Given the description of an element on the screen output the (x, y) to click on. 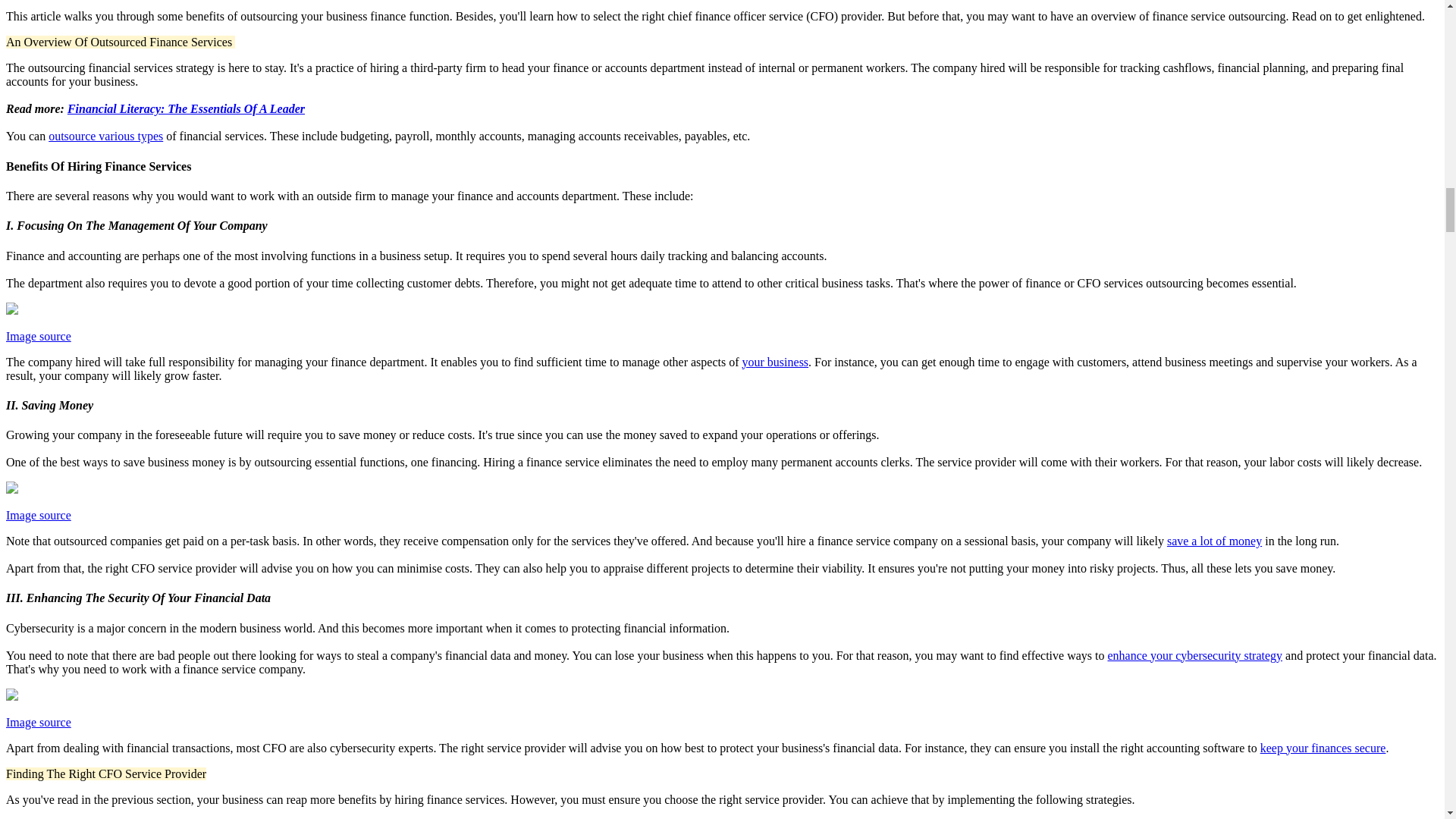
Image source (38, 514)
outsource various types (105, 135)
enhance your cybersecurity strategy (1194, 655)
your business (775, 361)
Image source (38, 336)
Financial Literacy: The Essentials Of A Leader (185, 108)
keep your finances secure (1323, 748)
Image source (38, 721)
save a lot of money (1214, 540)
